Given the description of an element on the screen output the (x, y) to click on. 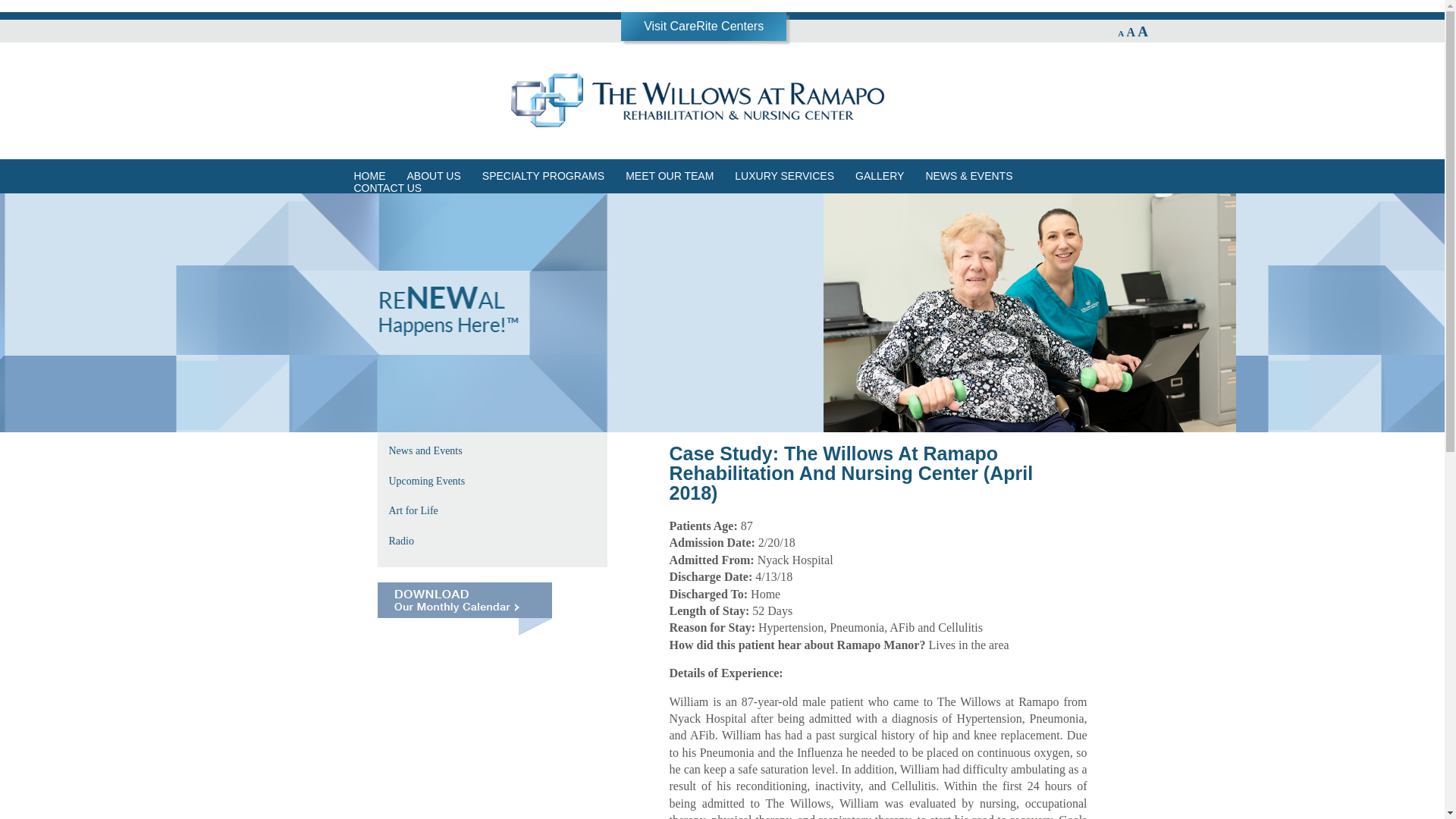
GALLERY (879, 176)
ABOUT US (433, 176)
Visit CareRite Centers (702, 25)
MEET OUR TEAM (668, 176)
LUXURY SERVICES (783, 176)
HOME (369, 176)
SPECIALTY PROGRAMS (542, 176)
